Given the description of an element on the screen output the (x, y) to click on. 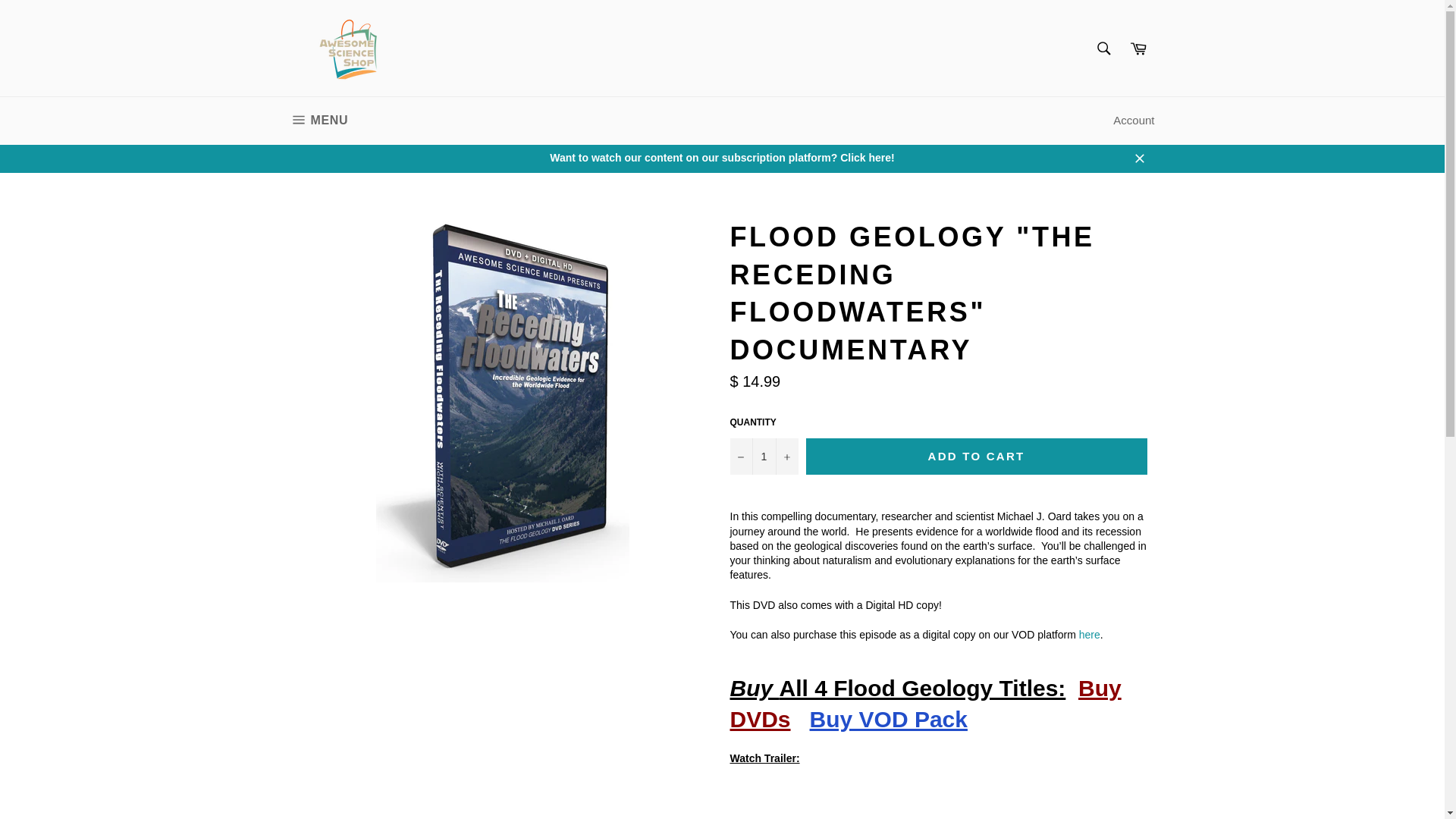
Search (1103, 47)
Cart (1138, 47)
The Receding Floodwaters VOD (1089, 634)
1 (763, 456)
Flood Geology 1-4 VOD (888, 719)
Flood Geology DVD Set (318, 120)
